Given the description of an element on the screen output the (x, y) to click on. 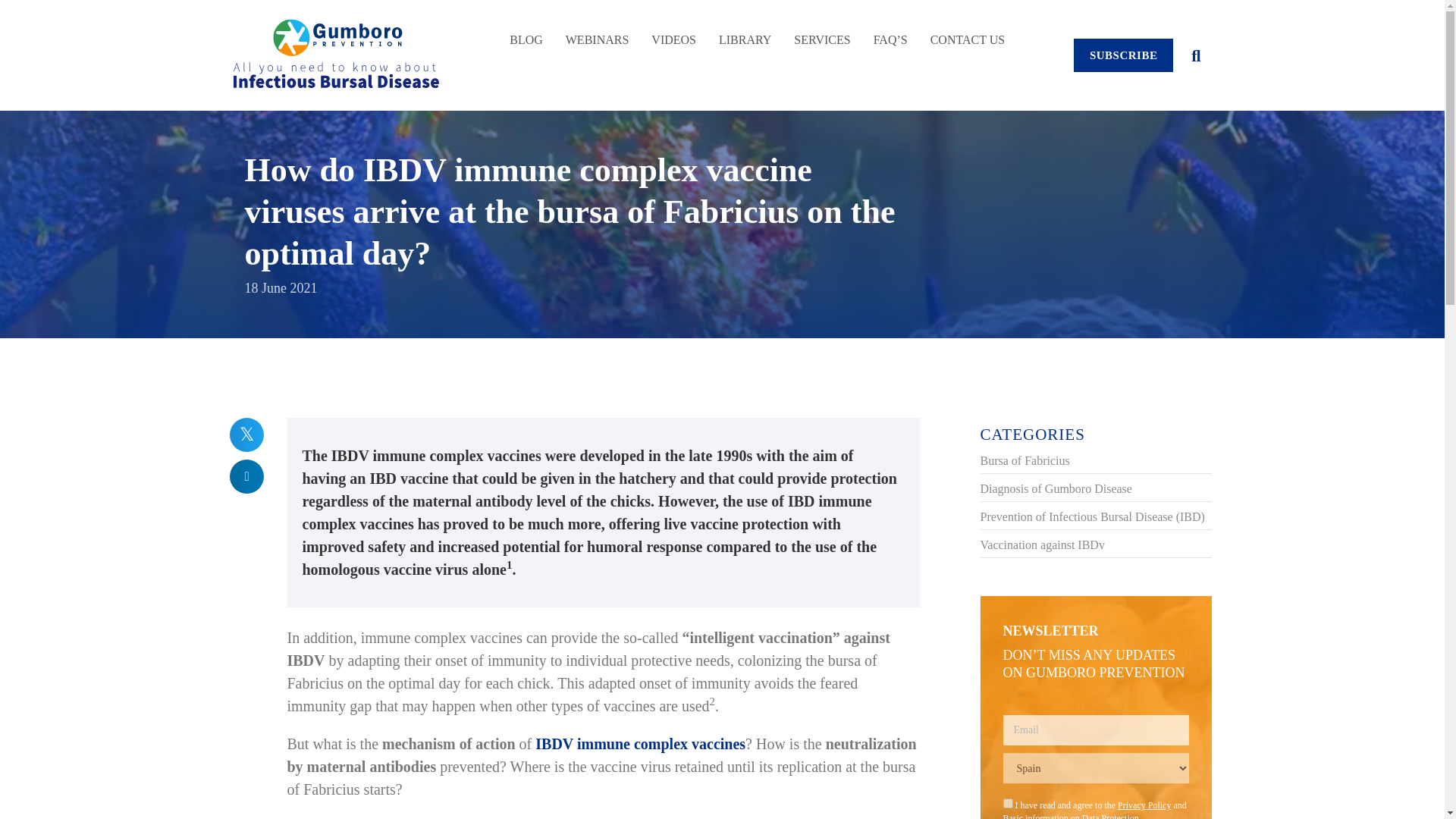
Vaccination against IBDv (1041, 544)
Basic information on Data Protection (1070, 816)
1 (1007, 803)
SUBSCRIBE (1123, 55)
LIBRARY (745, 32)
CONTACT US (967, 32)
VIDEOS (673, 32)
Privacy Policy (1144, 805)
SERVICES (822, 32)
Bursa of Fabricius (1023, 460)
BLOG (525, 32)
IBDV immune complex vaccines (640, 743)
Diagnosis of Gumboro Disease (1055, 488)
WEBINARS (597, 32)
